Given the description of an element on the screen output the (x, y) to click on. 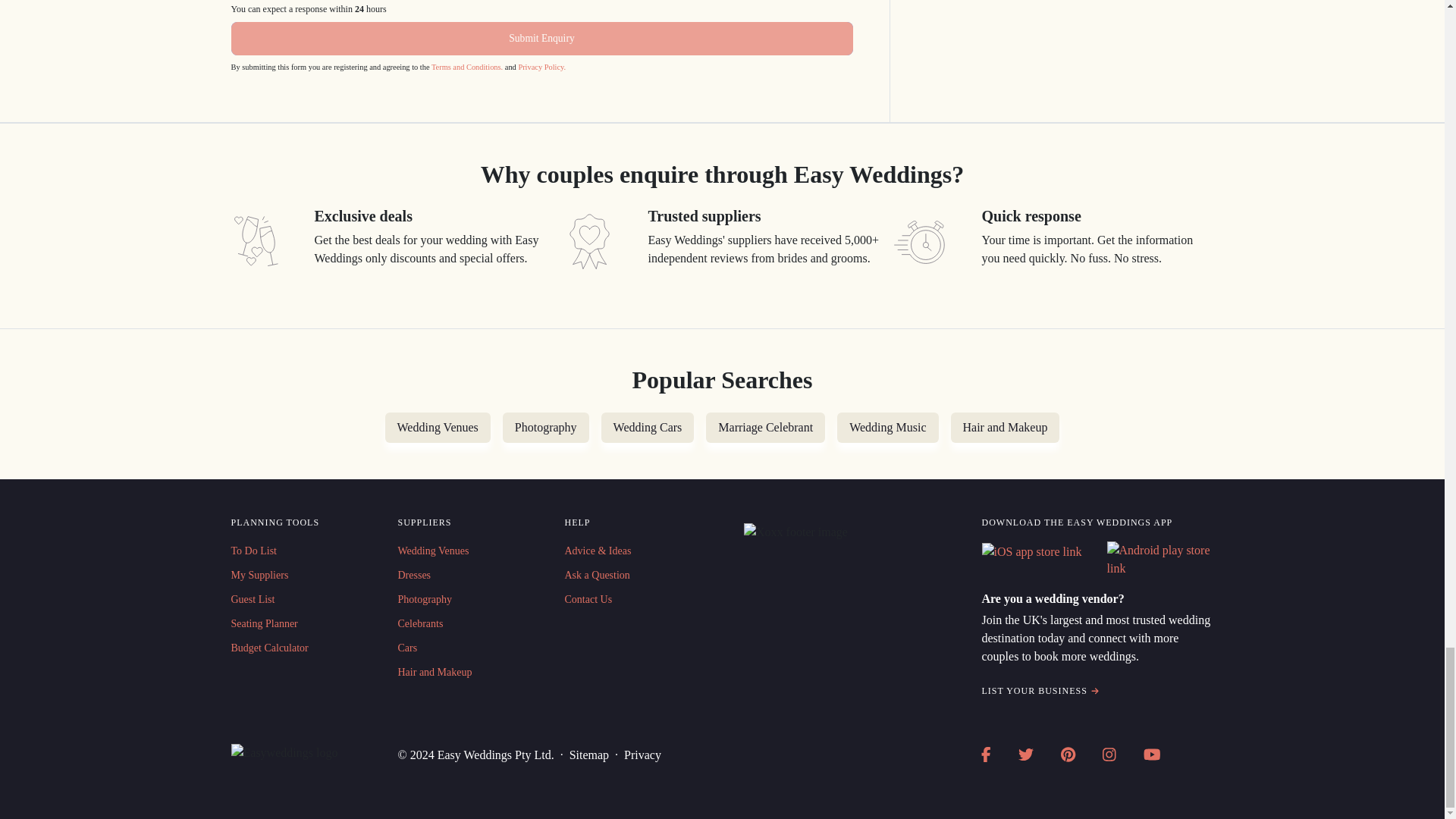
iOS app store link (1031, 551)
Submit Enquiry (540, 38)
Quick response (922, 241)
giveaway (588, 241)
Exclusive deals (255, 241)
Android play store link (1160, 559)
